Given the description of an element on the screen output the (x, y) to click on. 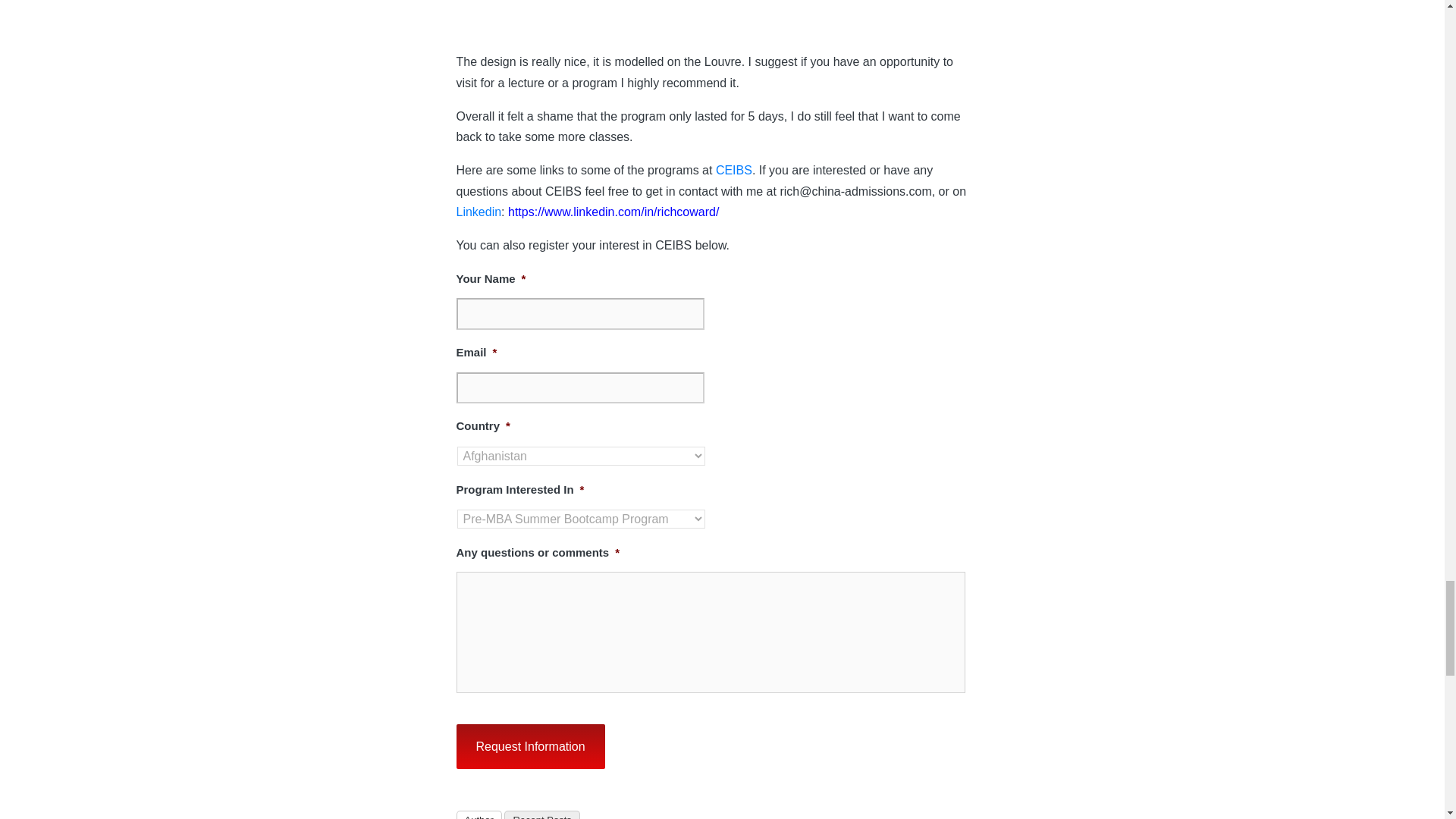
Request Information (531, 746)
